Given the description of an element on the screen output the (x, y) to click on. 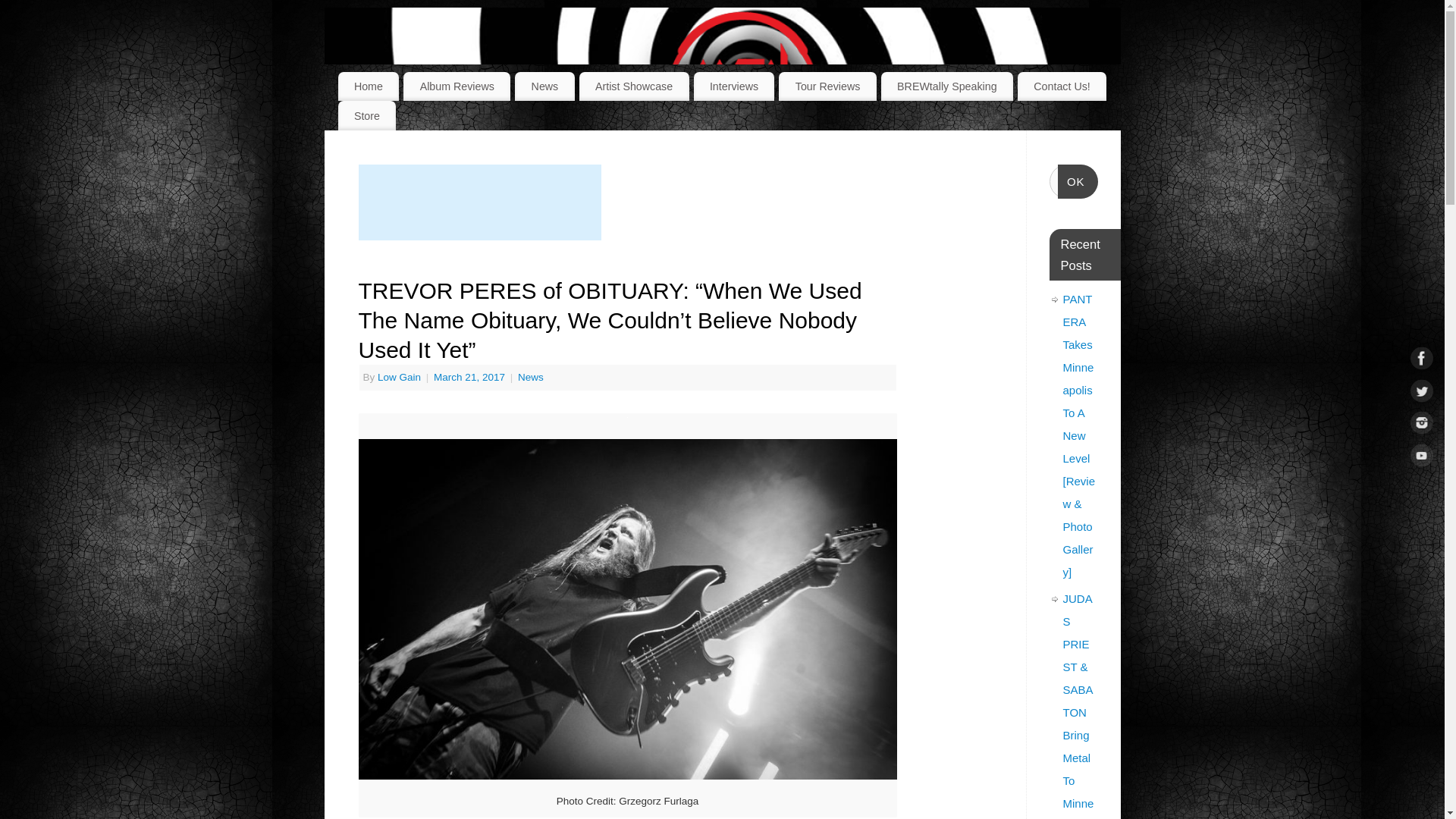
Metal Nexus (741, 82)
Contact Us! (1061, 86)
Tour Reviews (827, 86)
Interviews (734, 86)
OK (1077, 181)
News (530, 377)
News (544, 86)
Store (366, 114)
Low Gain (398, 377)
March 21, 2017 (470, 377)
